Given the description of an element on the screen output the (x, y) to click on. 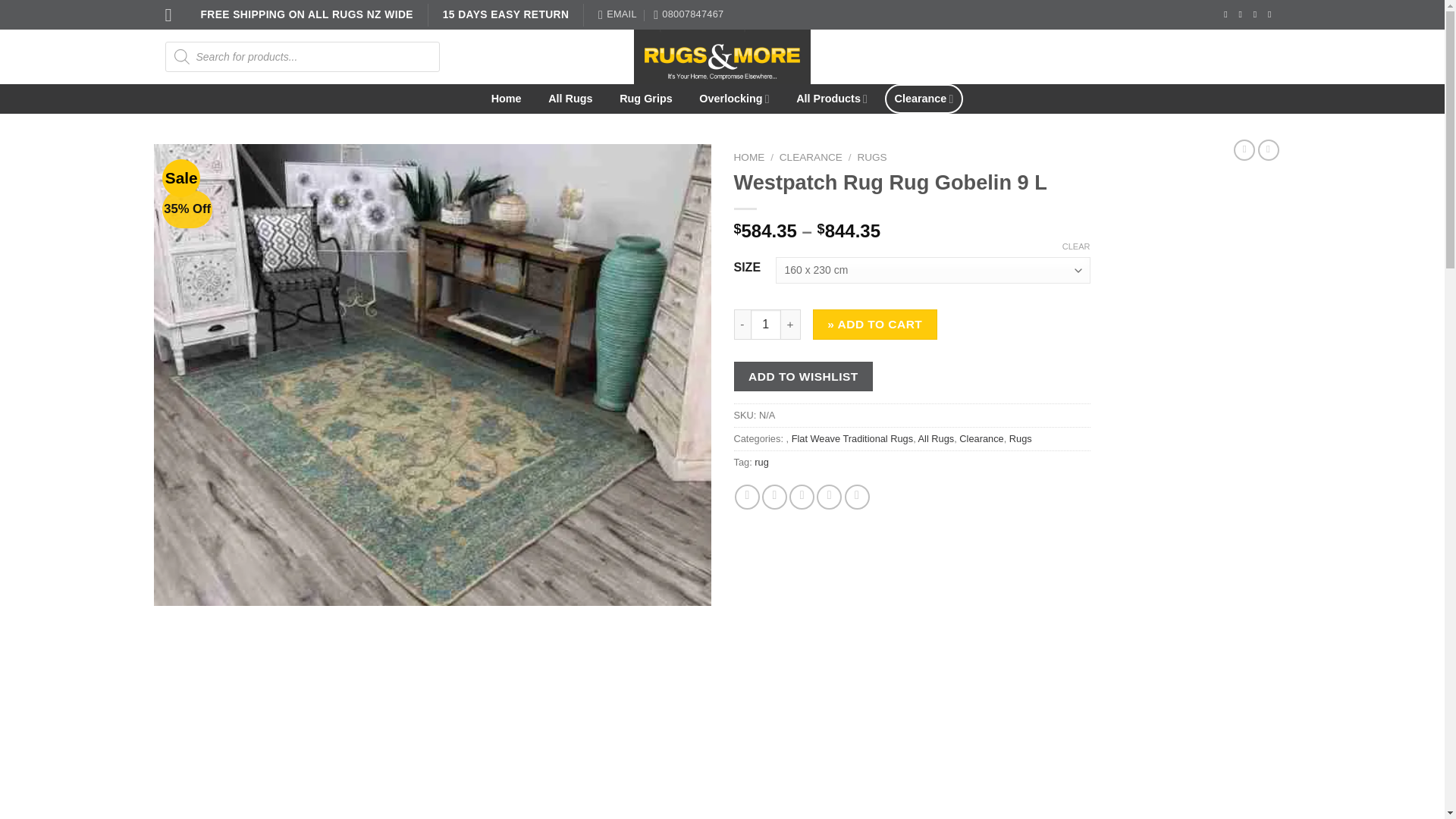
Rug Grips (645, 98)
Cart (1238, 56)
EMAIL (617, 14)
15 DAYS EASY RETURN (506, 14)
Overlocking (734, 98)
FREE SHIPPING ON ALL RUGS NZ WIDE (306, 14)
08007847467 (688, 14)
1 (765, 324)
08007847467 (688, 14)
Wishlist (1033, 56)
WISHLIST (1033, 56)
All Rugs (570, 98)
All Products (831, 98)
Login (1130, 56)
Home (506, 98)
